Given the description of an element on the screen output the (x, y) to click on. 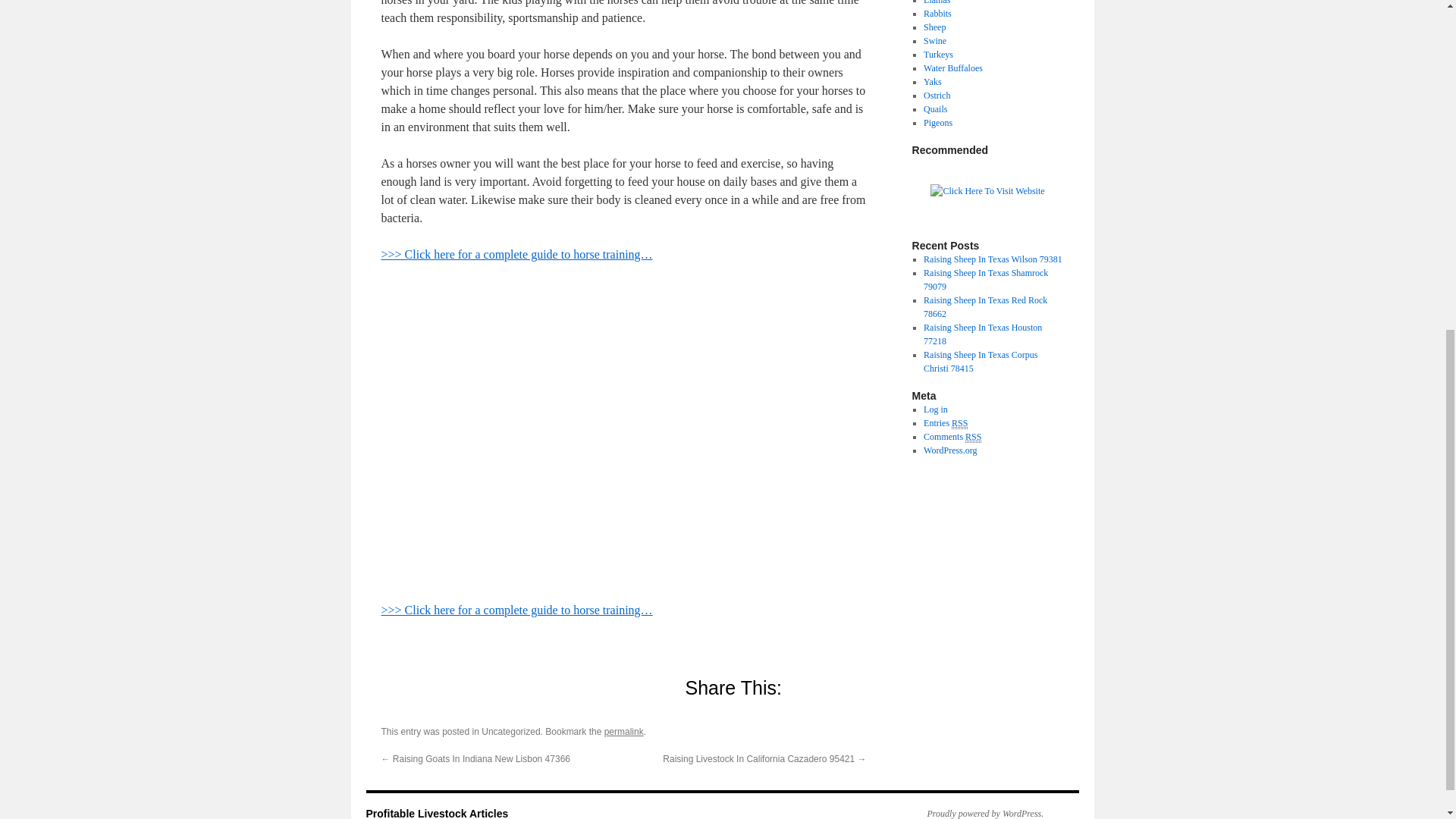
Permalink to Horse Training In Louisiana Monroe 71210 (623, 731)
Click Here To Visit Website (986, 191)
Really Simple Syndication (960, 423)
permalink (623, 731)
Really Simple Syndication (973, 437)
